Given the description of an element on the screen output the (x, y) to click on. 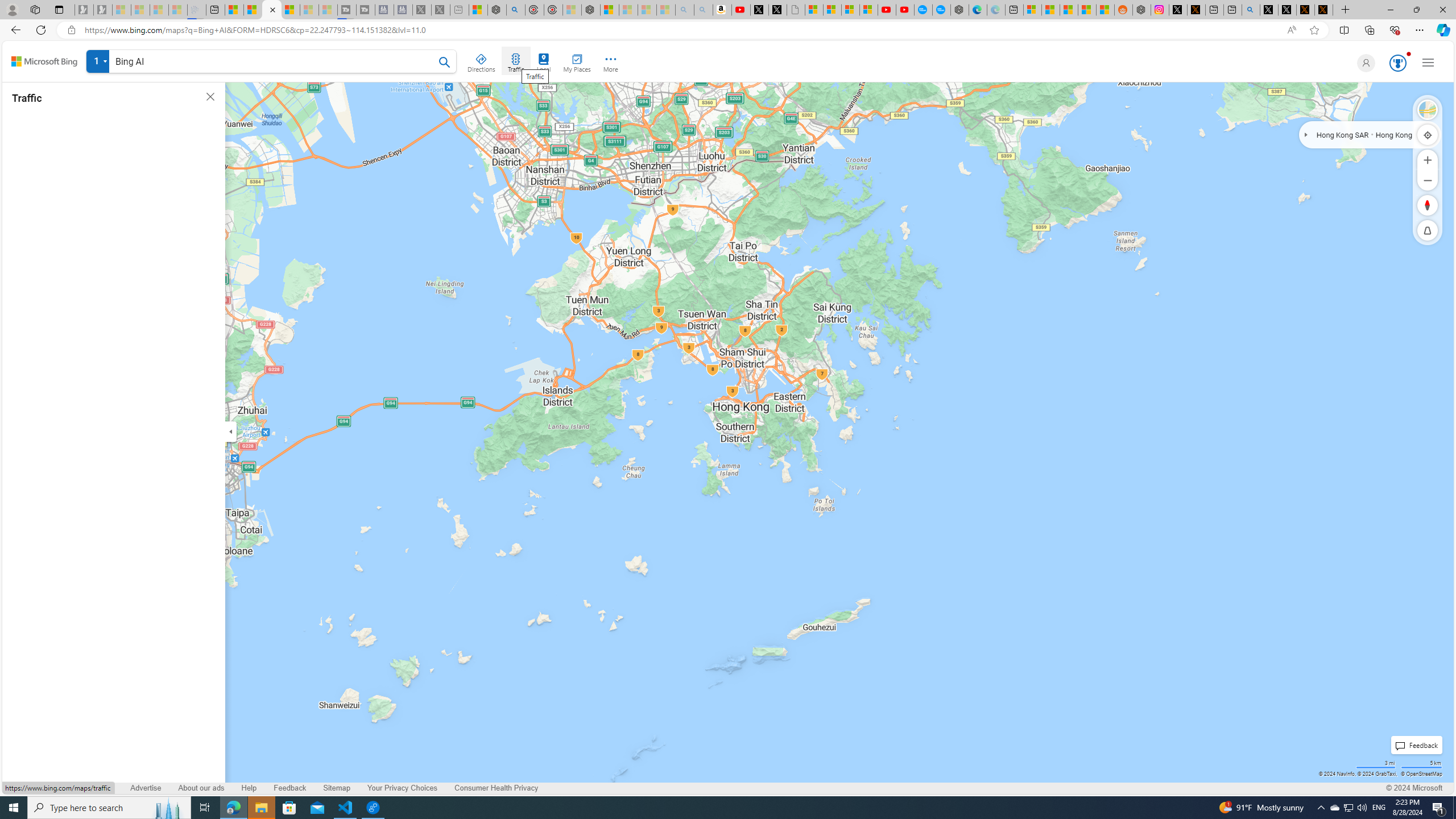
Expand/Collapse Cards (230, 431)
Microsoft Rewards 153 (1396, 63)
Add a search (274, 60)
Class: sbElement (43, 60)
Day 1: Arriving in Yemen (surreal to be here) - YouTube (740, 9)
AutomationID: serp_medal_svg (1397, 63)
Newsletter Sign Up - Sleeping (102, 9)
New tab - Sleeping (459, 9)
